Given the description of an element on the screen output the (x, y) to click on. 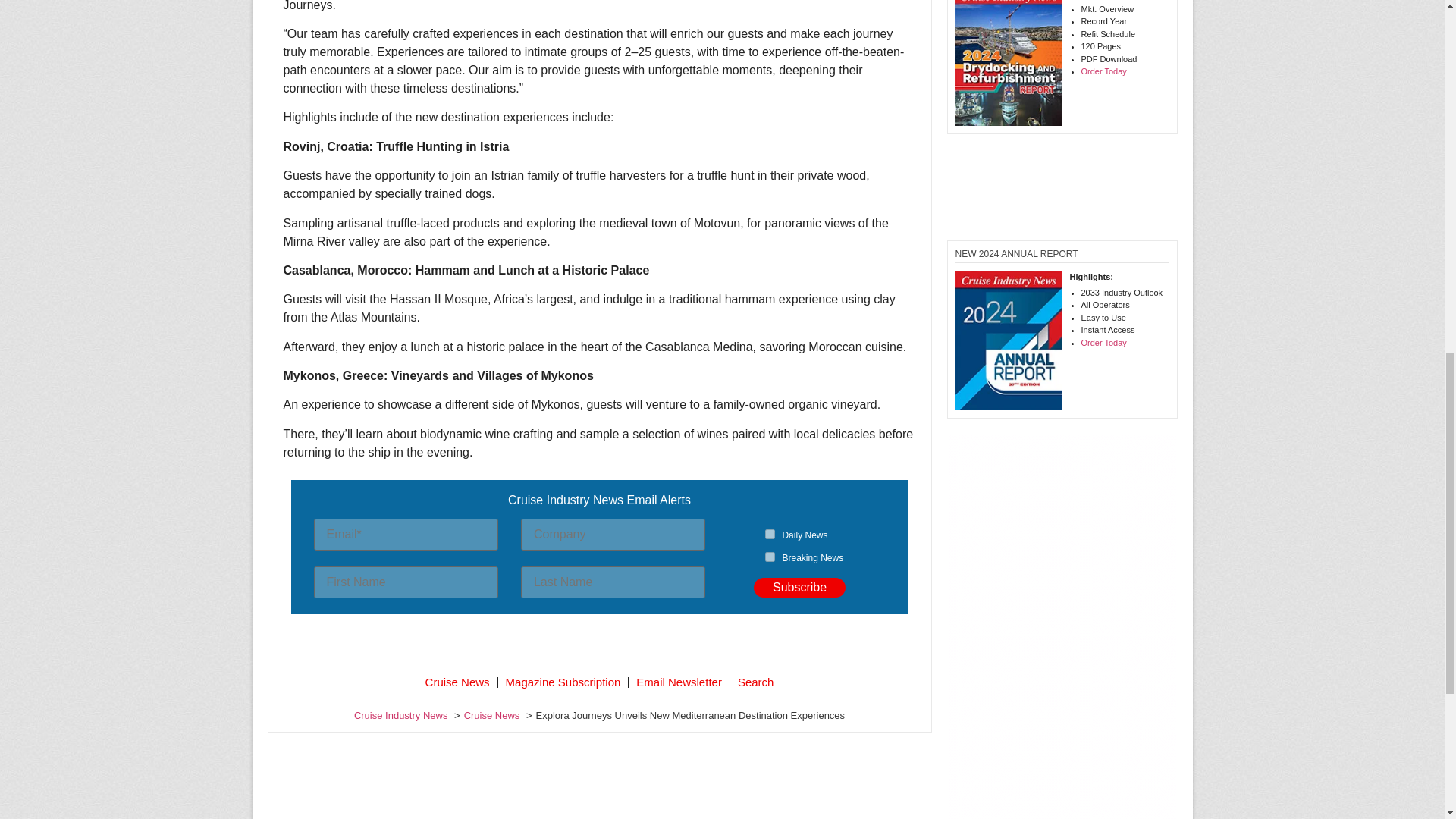
2 (769, 556)
1 (769, 533)
Subscribe (799, 587)
